Given the description of an element on the screen output the (x, y) to click on. 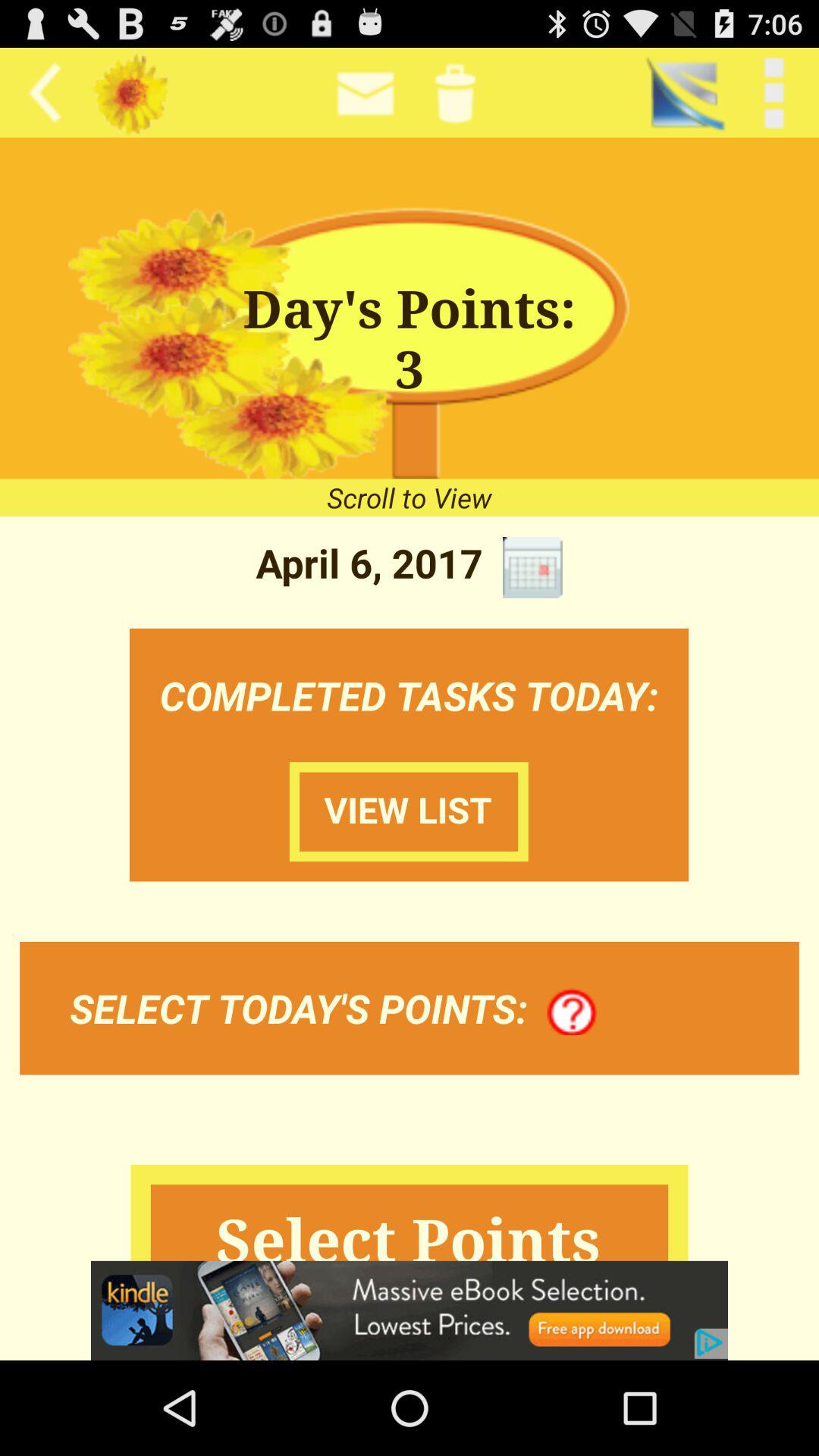
launch icon to the right of the april 6, 2017 icon (532, 567)
